Given the description of an element on the screen output the (x, y) to click on. 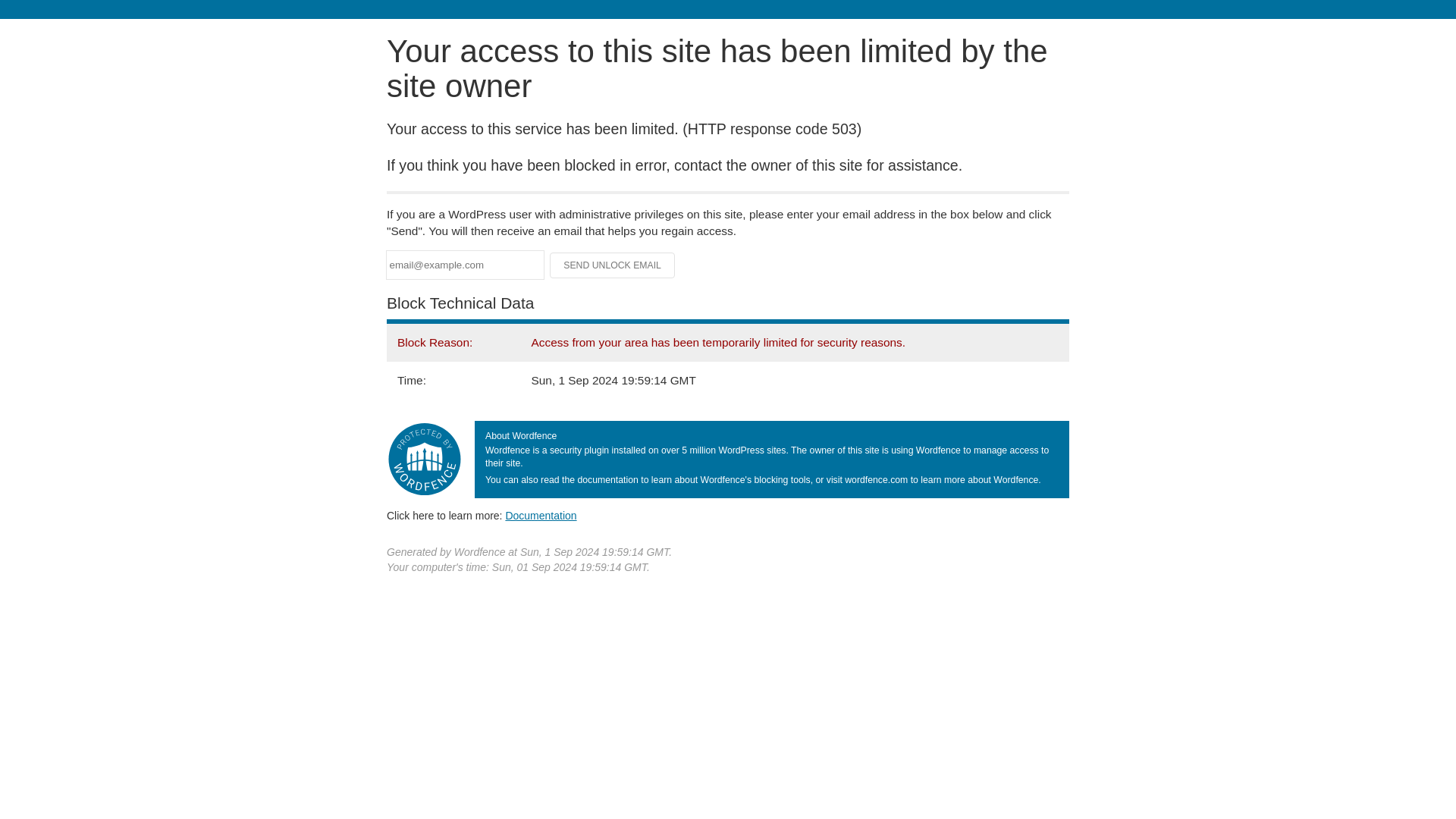
Send Unlock Email (612, 265)
Documentation (540, 515)
Send Unlock Email (612, 265)
